Given the description of an element on the screen output the (x, y) to click on. 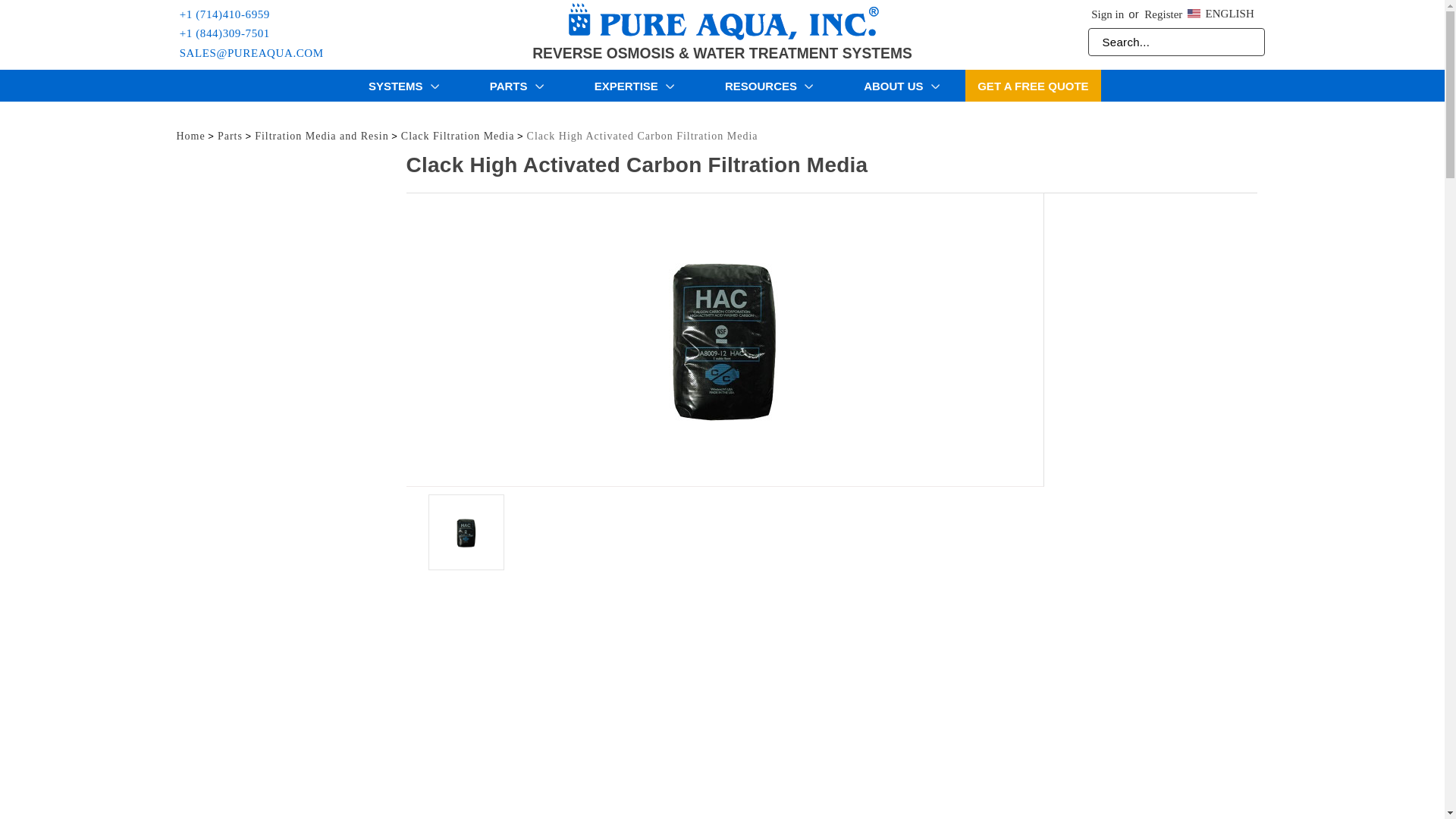
Search (18, 17)
SYSTEMS (403, 85)
Pure Aqua. Inc. (721, 21)
English Website (1195, 14)
ENGLISH (1222, 11)
Register (1160, 17)
Sign in (1107, 17)
